Given the description of an element on the screen output the (x, y) to click on. 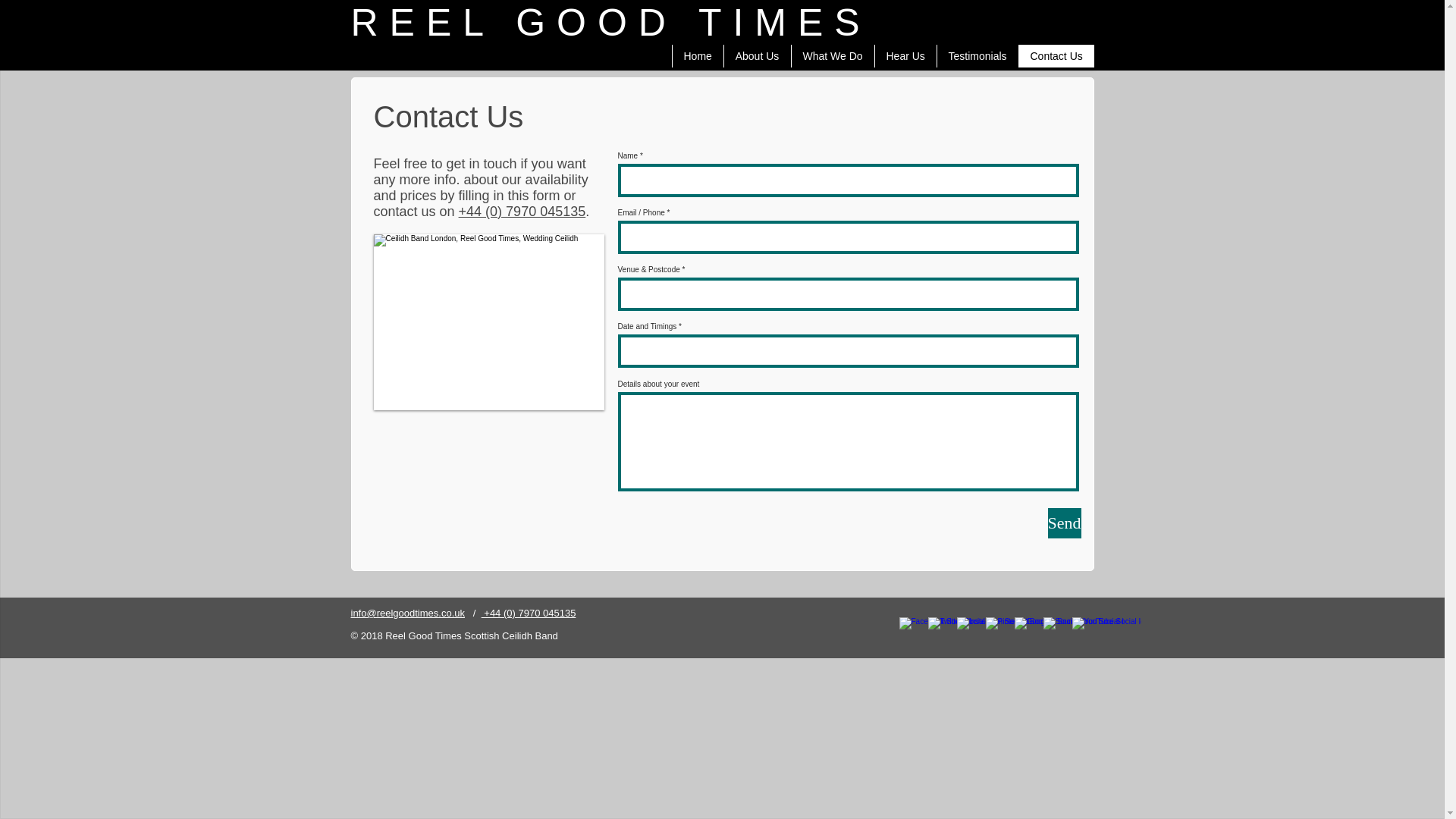
Send (1064, 522)
About Us (756, 56)
Hear Us (904, 56)
Home (697, 56)
What We Do (831, 56)
Ceilidh Band London, Reel Good Times, Wedding Ceilidh (488, 322)
Contact Us (1055, 56)
Testimonials (976, 56)
